Given the description of an element on the screen output the (x, y) to click on. 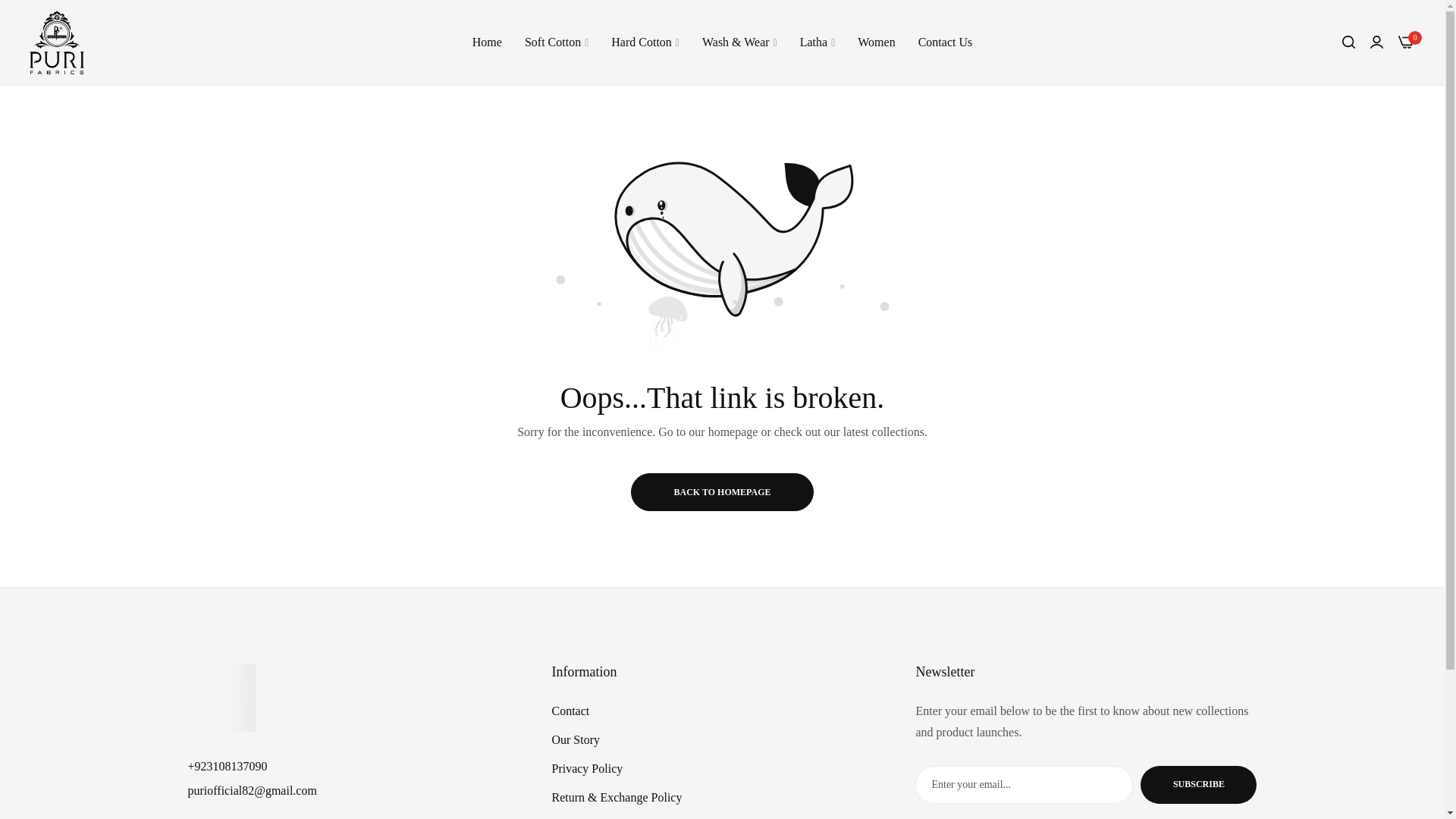
Home (487, 42)
Hard Cotton (644, 42)
Puri Men (56, 42)
Latha (818, 42)
Soft Cotton (556, 42)
